Given the description of an element on the screen output the (x, y) to click on. 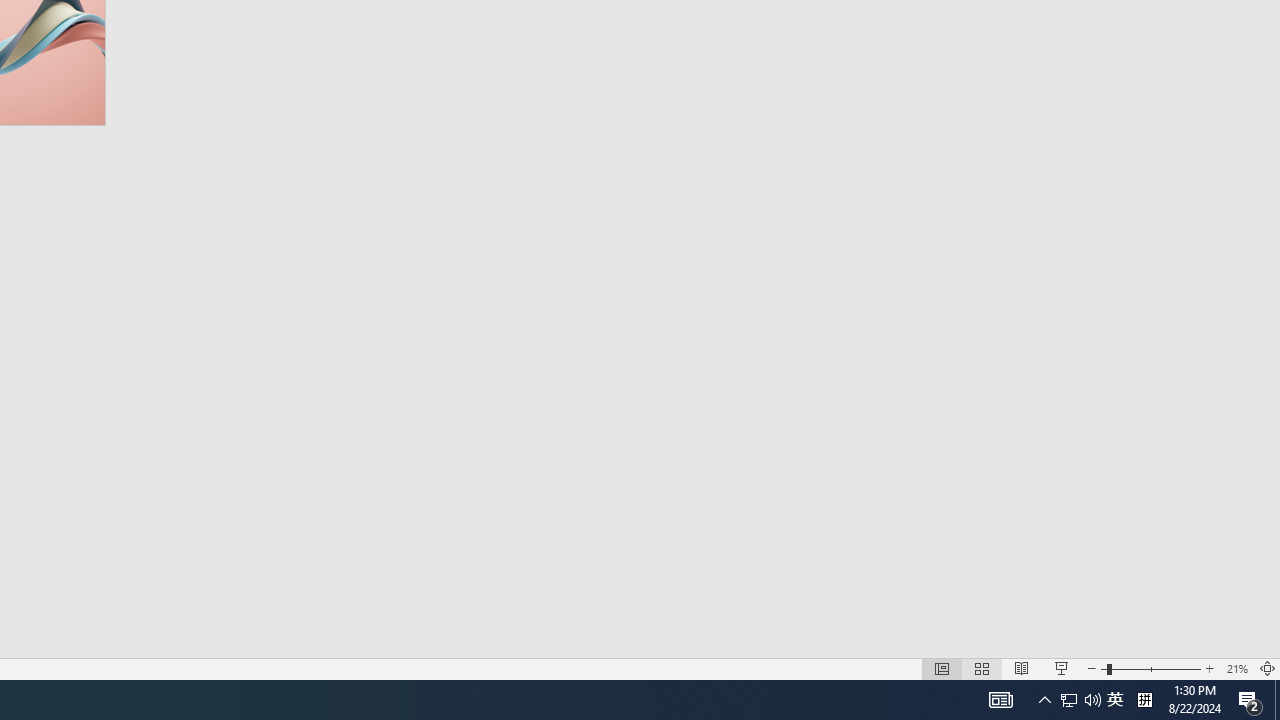
Zoom 21% (1236, 668)
